Given the description of an element on the screen output the (x, y) to click on. 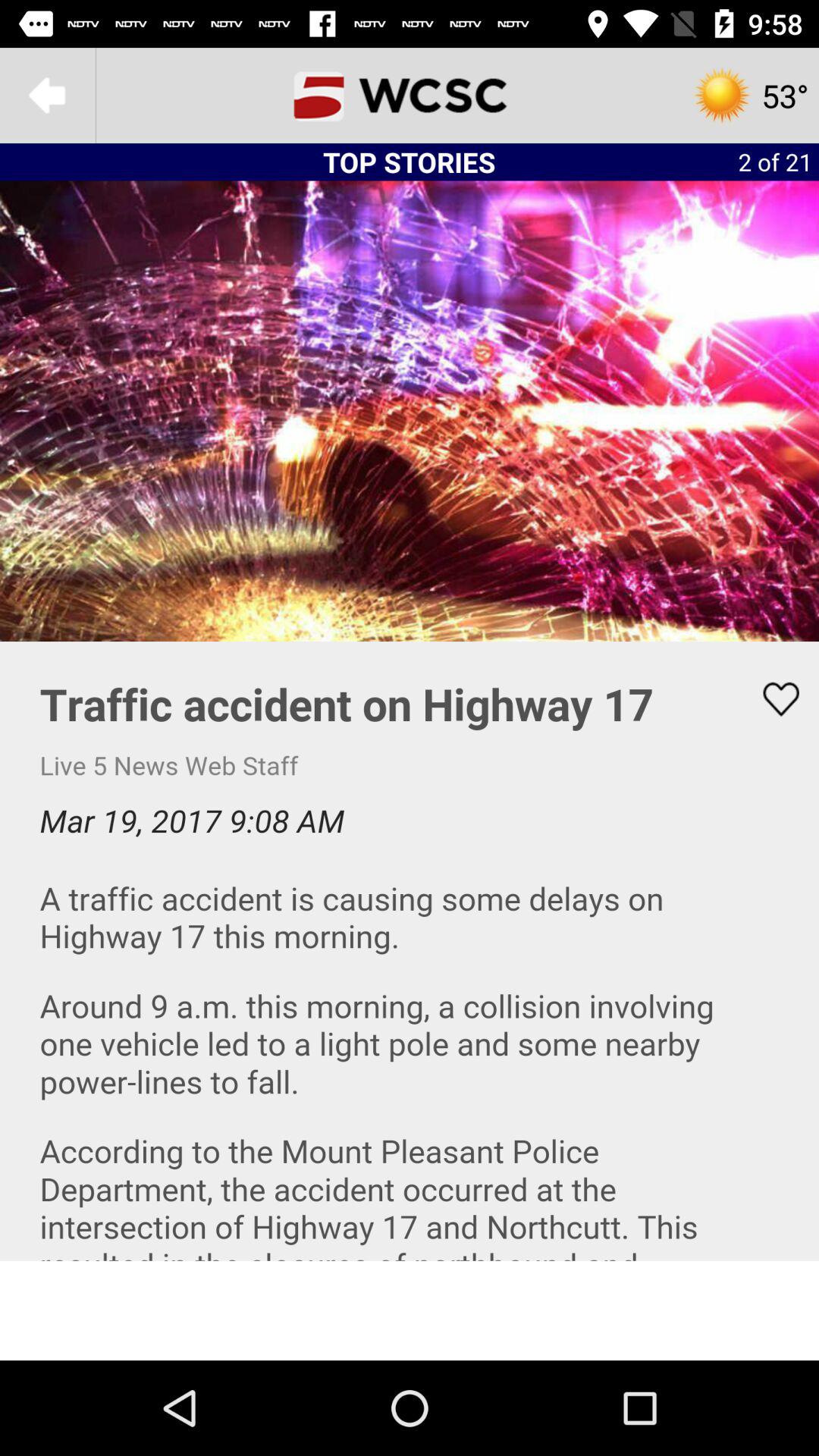
go to the home page (409, 95)
